Given the description of an element on the screen output the (x, y) to click on. 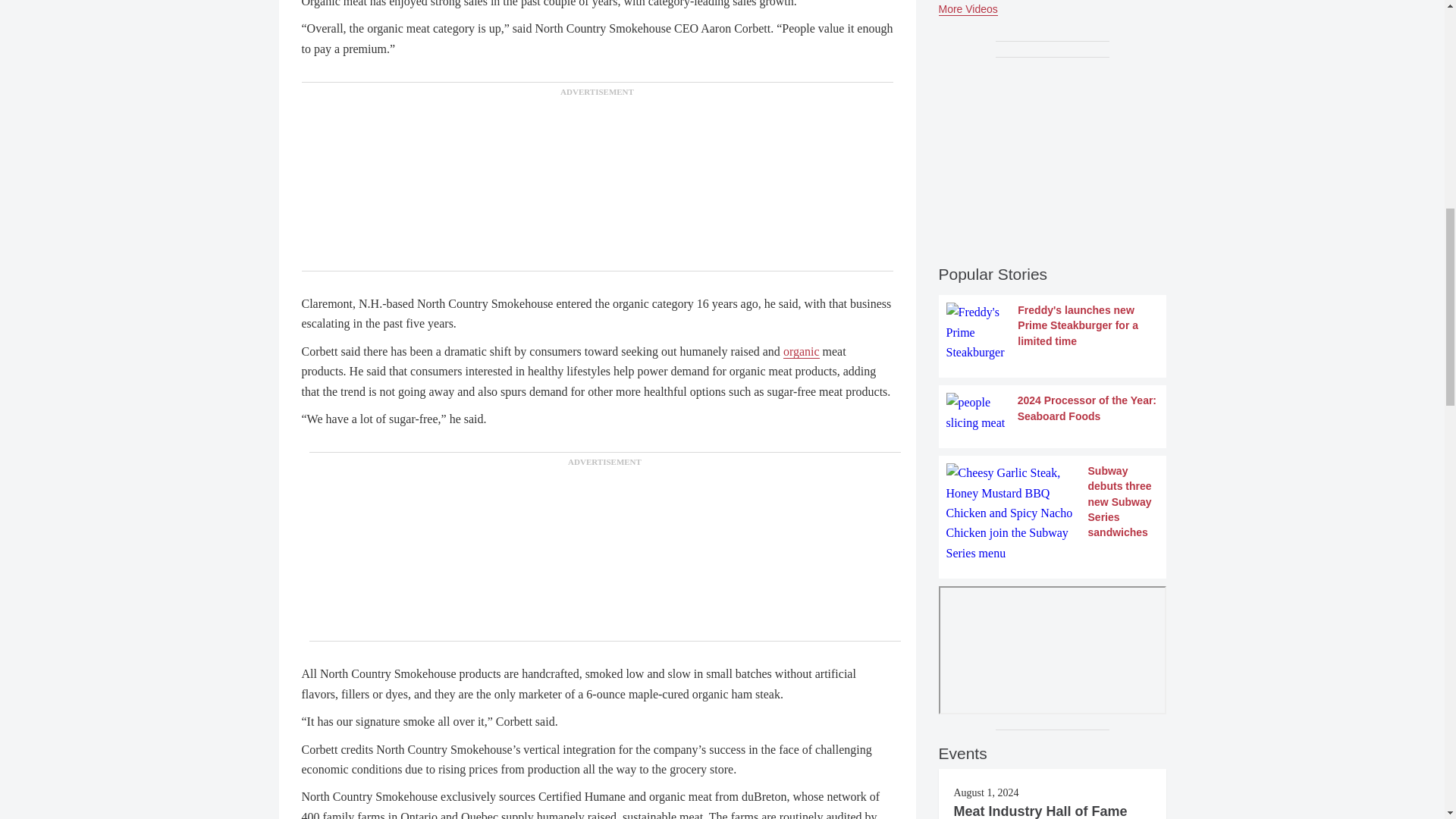
2024 Processor of the Year: Seaboard Foods (1052, 413)
Subway debuts three new Subway Series sandwiches (1052, 513)
Meat Industry Hall of Fame (1039, 811)
Freddy's launches new Prime Steakburger for a limited time (1052, 332)
